Given the description of an element on the screen output the (x, y) to click on. 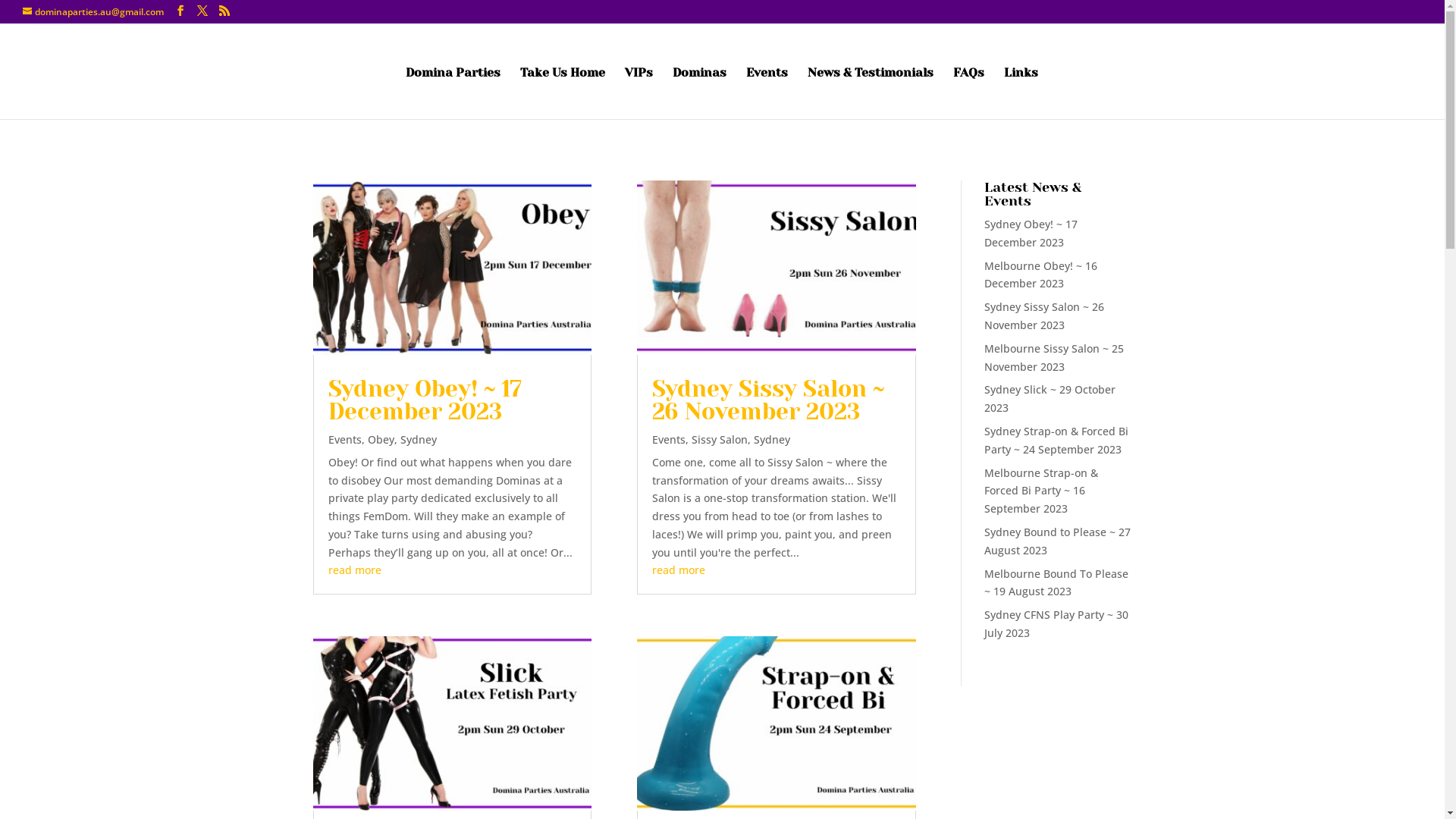
Melbourne Sissy Salon ~ 25 November 2023 Element type: text (1053, 357)
Sydney Sissy Salon ~ 26 November 2023 Element type: text (1044, 315)
Sydney CFNS Play Party ~ 30 July 2023 Element type: text (1056, 623)
Melbourne Strap-on & Forced Bi Party ~ 16 September 2023 Element type: text (1041, 490)
Obey Element type: text (380, 439)
Events Element type: text (668, 439)
Sydney Sissy Salon ~ 26 November 2023 Element type: text (768, 400)
Sydney Bound to Please ~ 27 August 2023 Element type: text (1057, 540)
Events Element type: text (343, 439)
Sydney Obey! ~ 17 December 2023 Element type: text (1030, 232)
Sydney Strap-on & Forced Bi Party ~ 24 September 2023 Element type: text (1056, 439)
Links Element type: text (1021, 93)
Sydney Slick ~ 29 October 2023 Element type: text (1049, 398)
Sydney Obey! ~ 17 December 2023 Element type: text (423, 400)
read more Element type: text (678, 569)
Dominas Element type: text (698, 93)
read more Element type: text (353, 569)
Melbourne Obey! ~ 16 December 2023 Element type: text (1040, 274)
Sissy Salon Element type: text (719, 439)
Domina Parties Element type: text (451, 93)
FAQs Element type: text (967, 93)
VIPs Element type: text (638, 93)
Sydney Element type: text (771, 439)
dominaparties.au@gmail.com Element type: text (92, 11)
Take Us Home Element type: text (562, 93)
Sydney Element type: text (418, 439)
Melbourne Bound To Please ~ 19 August 2023 Element type: text (1056, 582)
Events Element type: text (766, 93)
News & Testimonials Element type: text (869, 93)
